Given the description of an element on the screen output the (x, y) to click on. 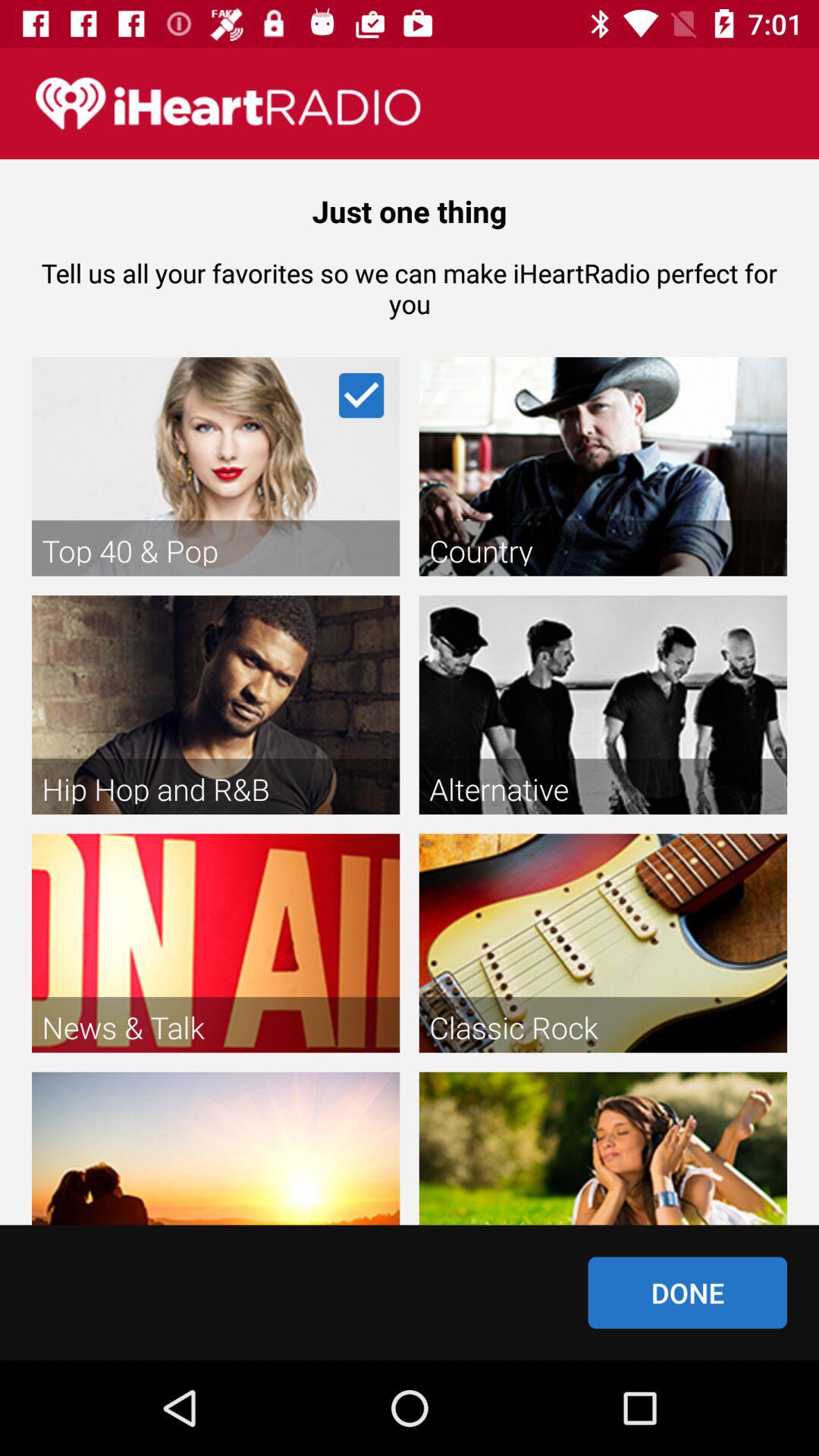
turn on done (687, 1292)
